Given the description of an element on the screen output the (x, y) to click on. 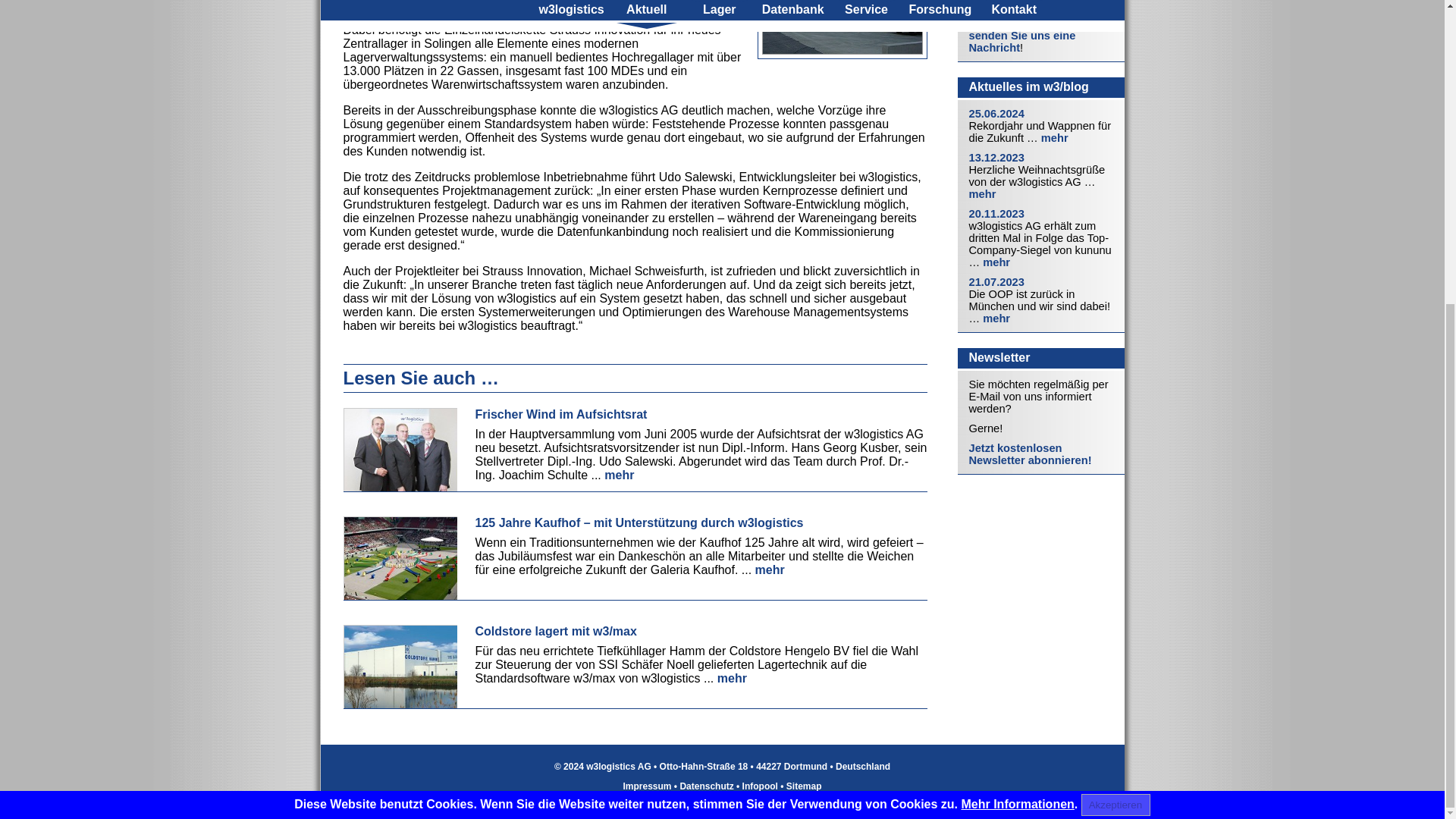
Mehr Informationen (1017, 327)
